Given the description of an element on the screen output the (x, y) to click on. 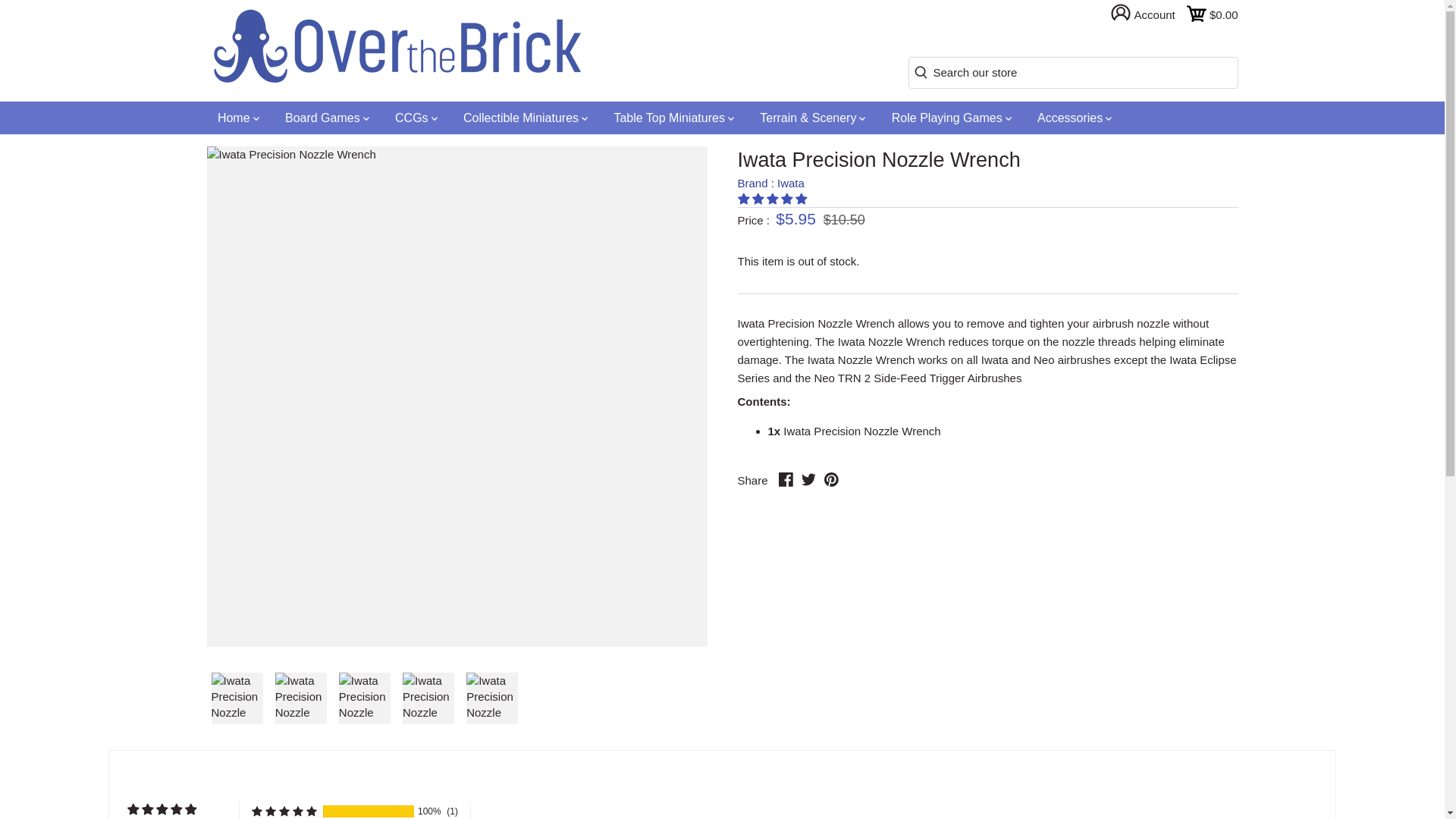
Twitter (808, 479)
Board Games (327, 117)
Pinterest (831, 479)
CCGs (416, 117)
Facebook (785, 479)
Home (237, 117)
Account (1148, 14)
